Given the description of an element on the screen output the (x, y) to click on. 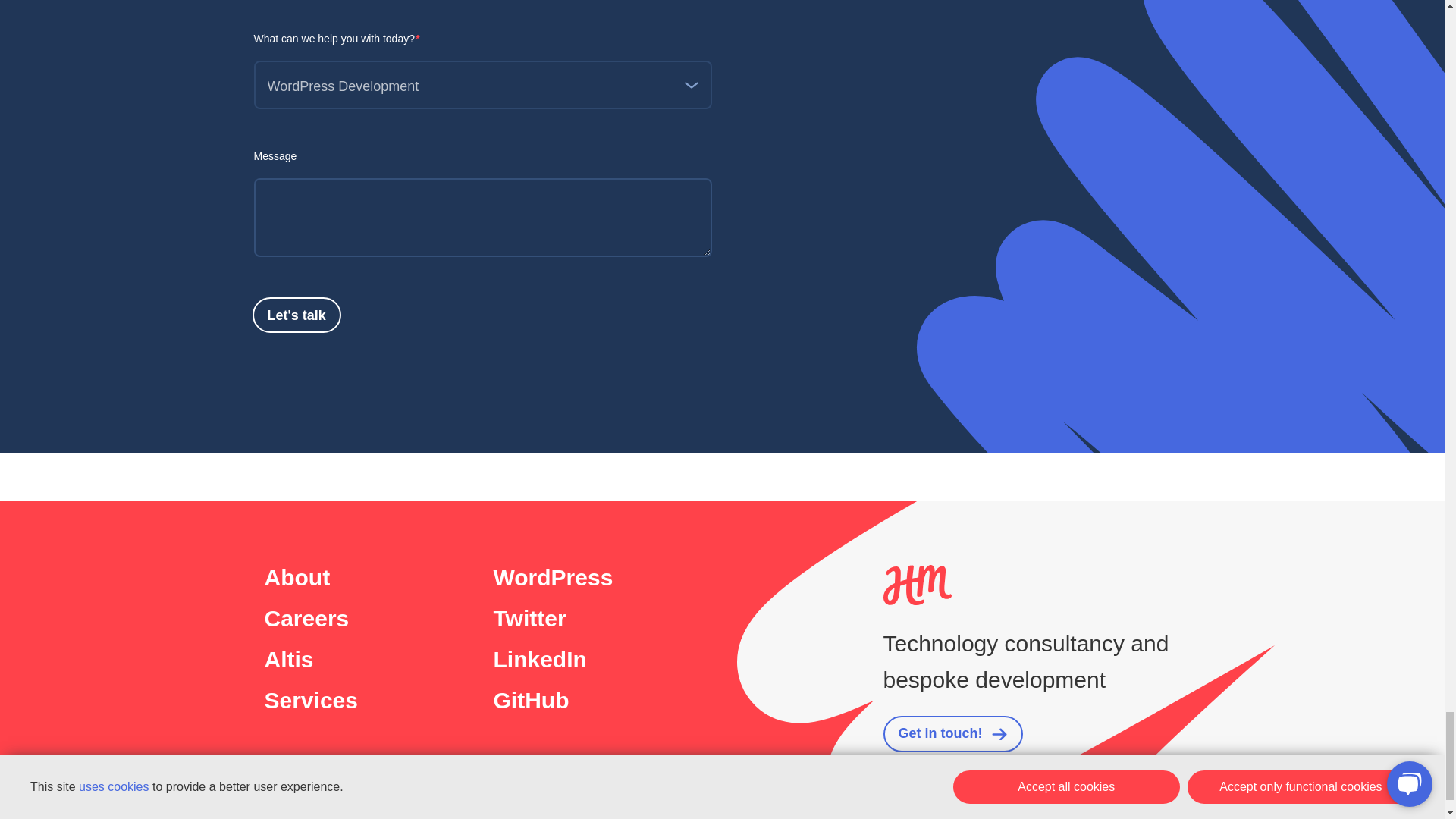
Altis (288, 659)
About (296, 577)
Let's talk (295, 314)
Let's talk (295, 314)
Careers (306, 618)
Services (309, 700)
